Given the description of an element on the screen output the (x, y) to click on. 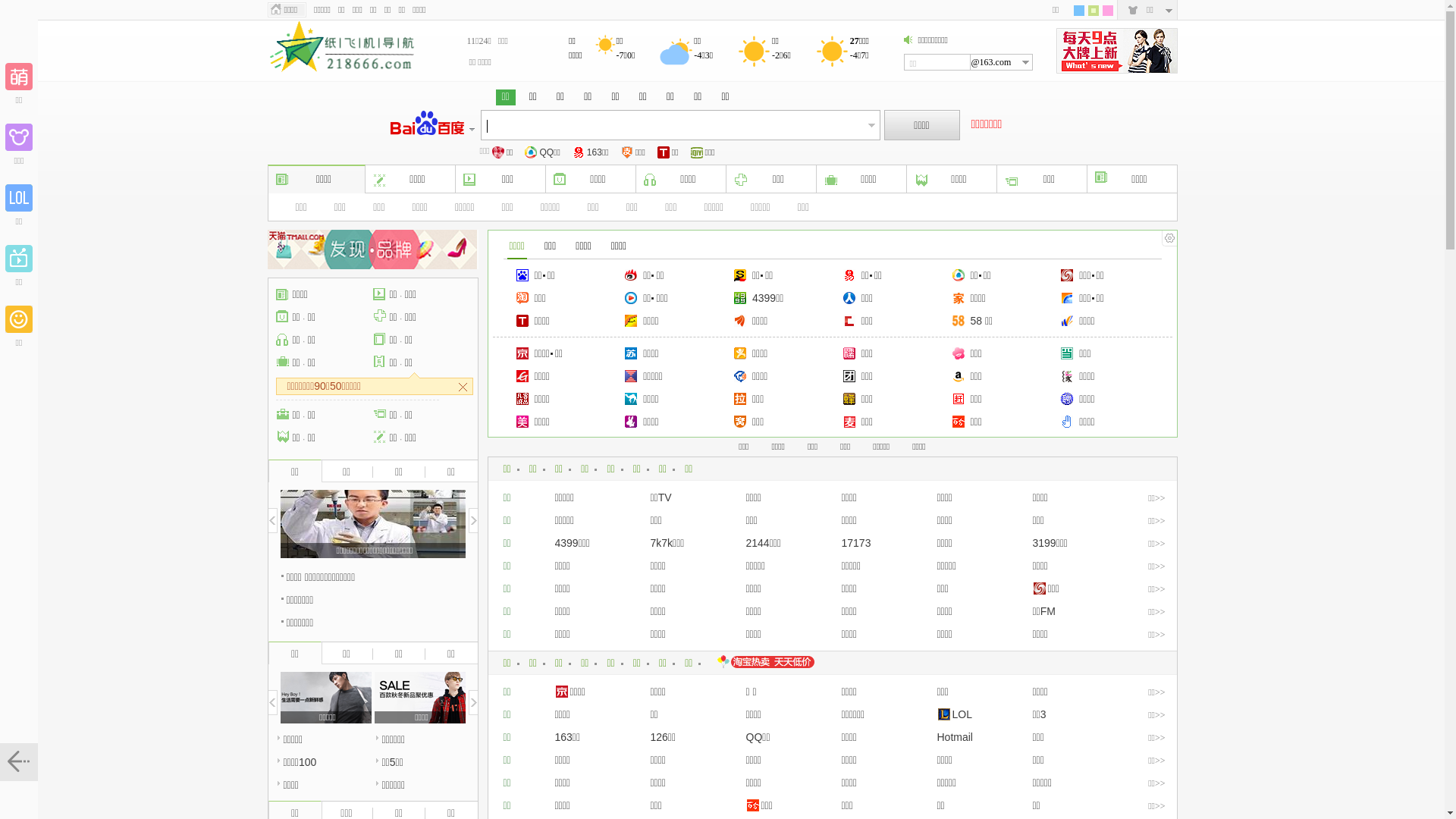
Hotmail Element type: text (954, 737)
17173 Element type: text (856, 542)
LOL Element type: text (954, 714)
